Given the description of an element on the screen output the (x, y) to click on. 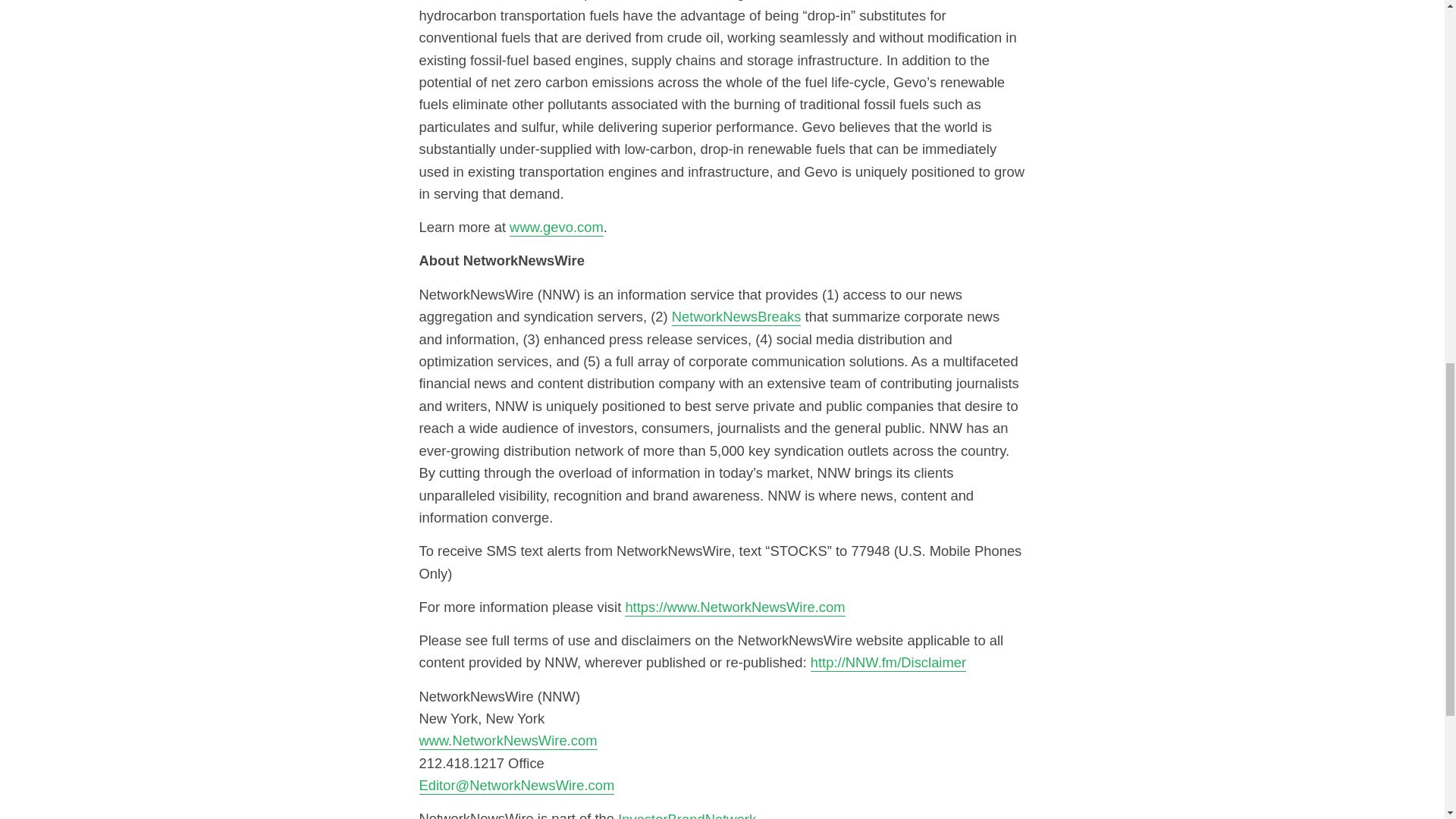
www.gevo.com (556, 226)
NetworkNewsBreaks (736, 316)
www.NetworkNewsWire.com (507, 740)
InvestorBrandNetwork (686, 814)
